Given the description of an element on the screen output the (x, y) to click on. 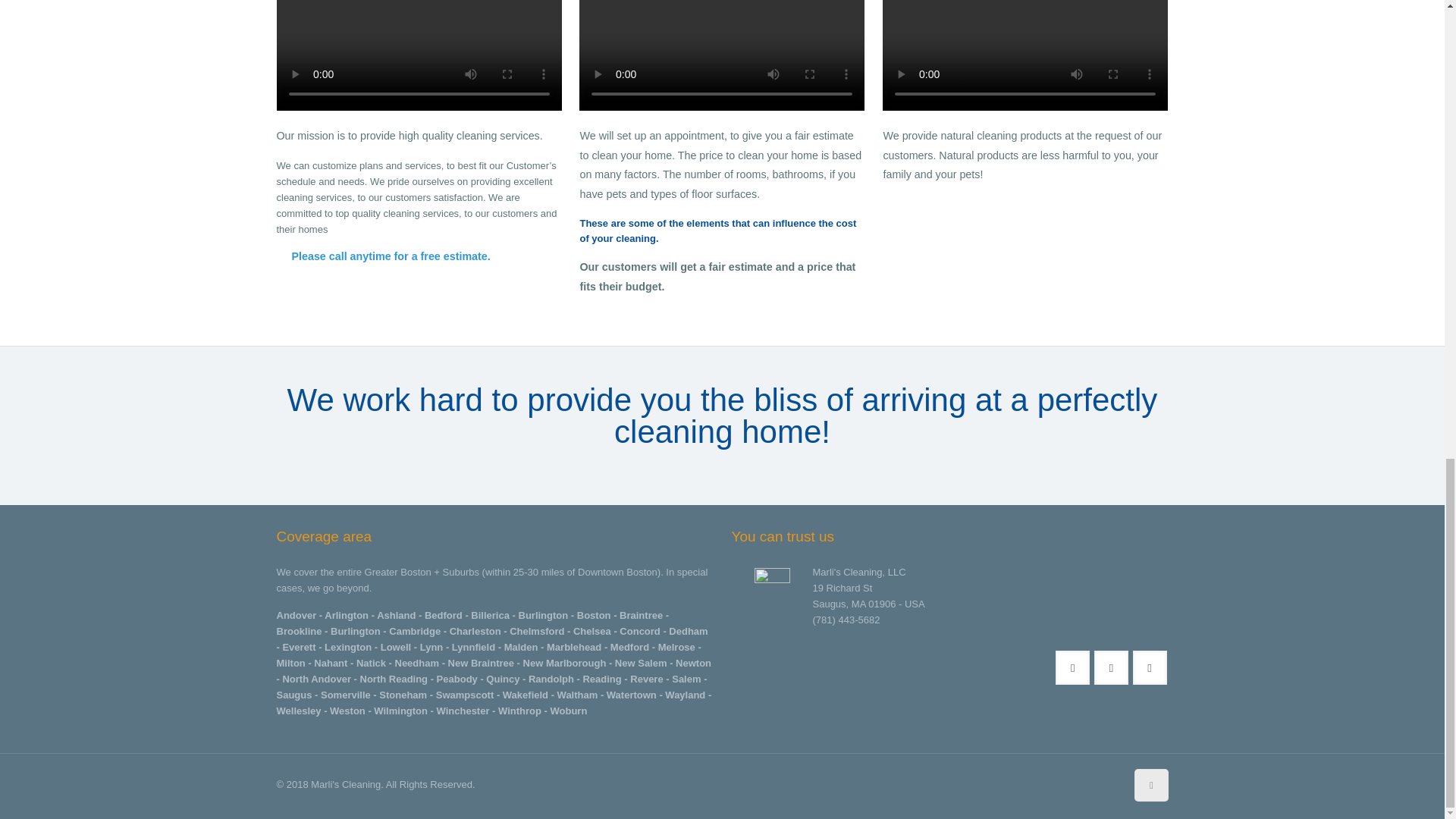
Please call anytime for a free estimate. (382, 256)
